Given the description of an element on the screen output the (x, y) to click on. 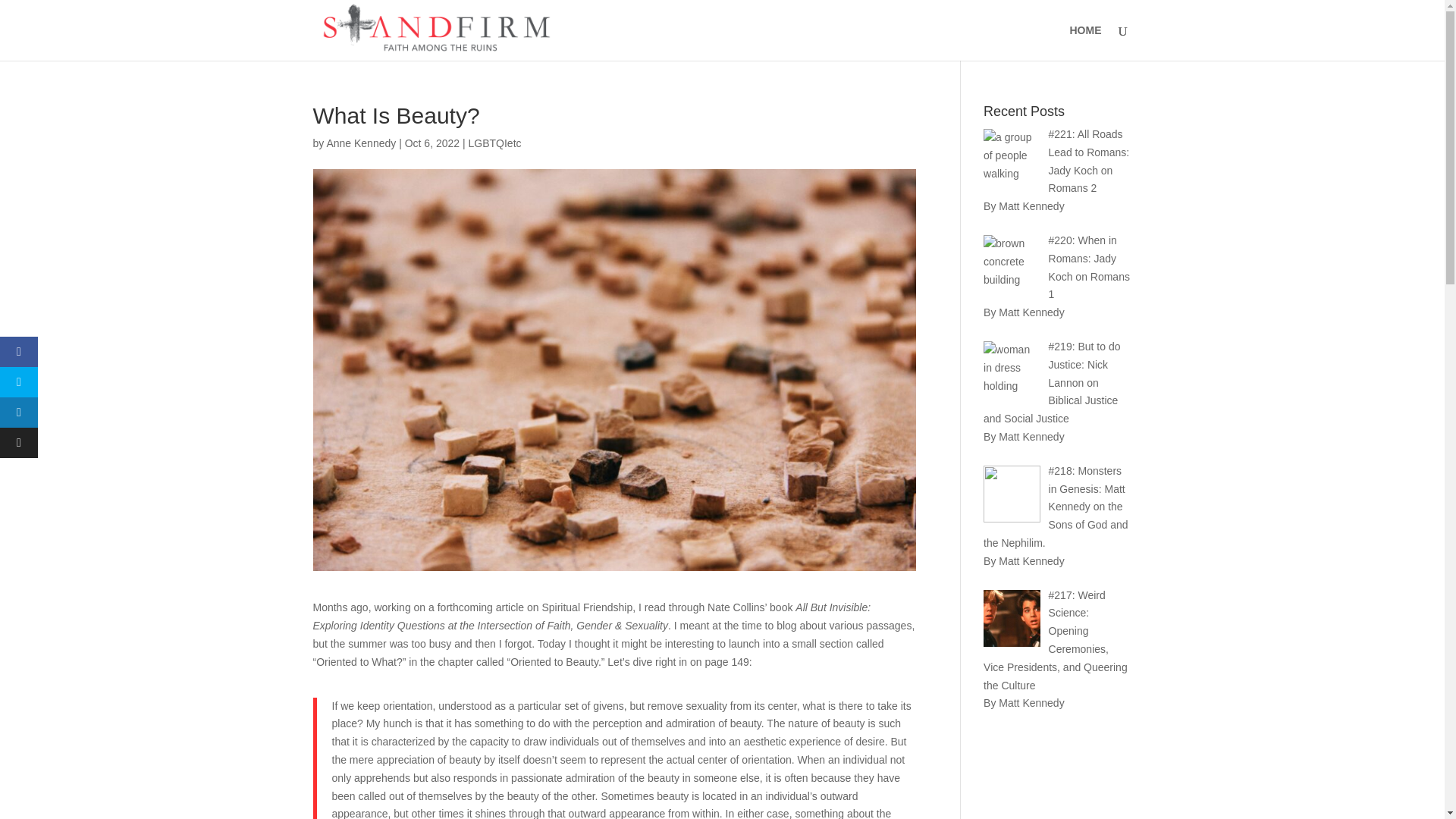
Posts by Anne Kennedy (361, 143)
HOME (1084, 42)
LGBTQIetc (494, 143)
Anne Kennedy (361, 143)
